Given the description of an element on the screen output the (x, y) to click on. 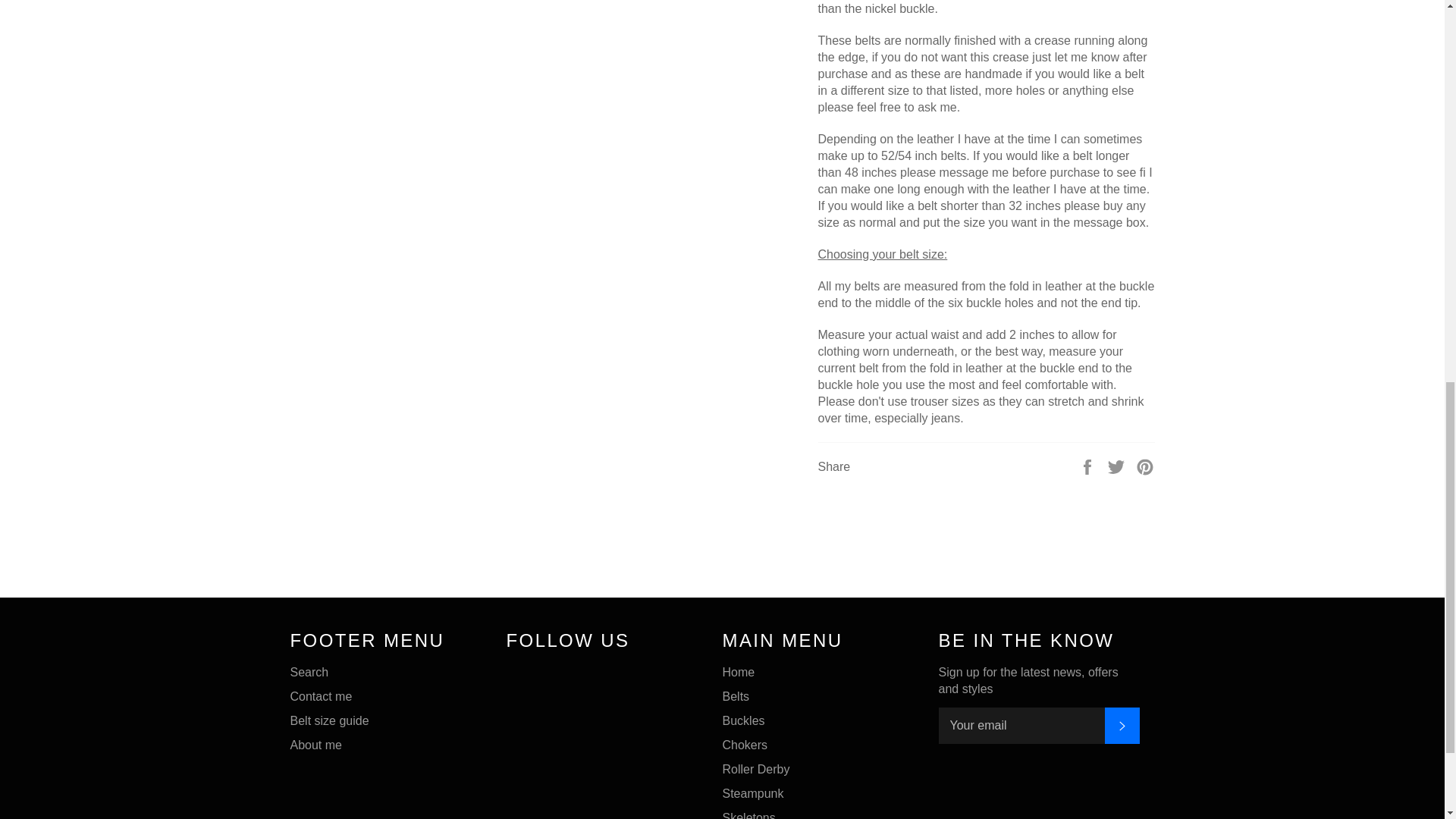
Share on Facebook (1088, 465)
Tweet on Twitter (1117, 465)
Pin on Pinterest (1144, 465)
